Given the description of an element on the screen output the (x, y) to click on. 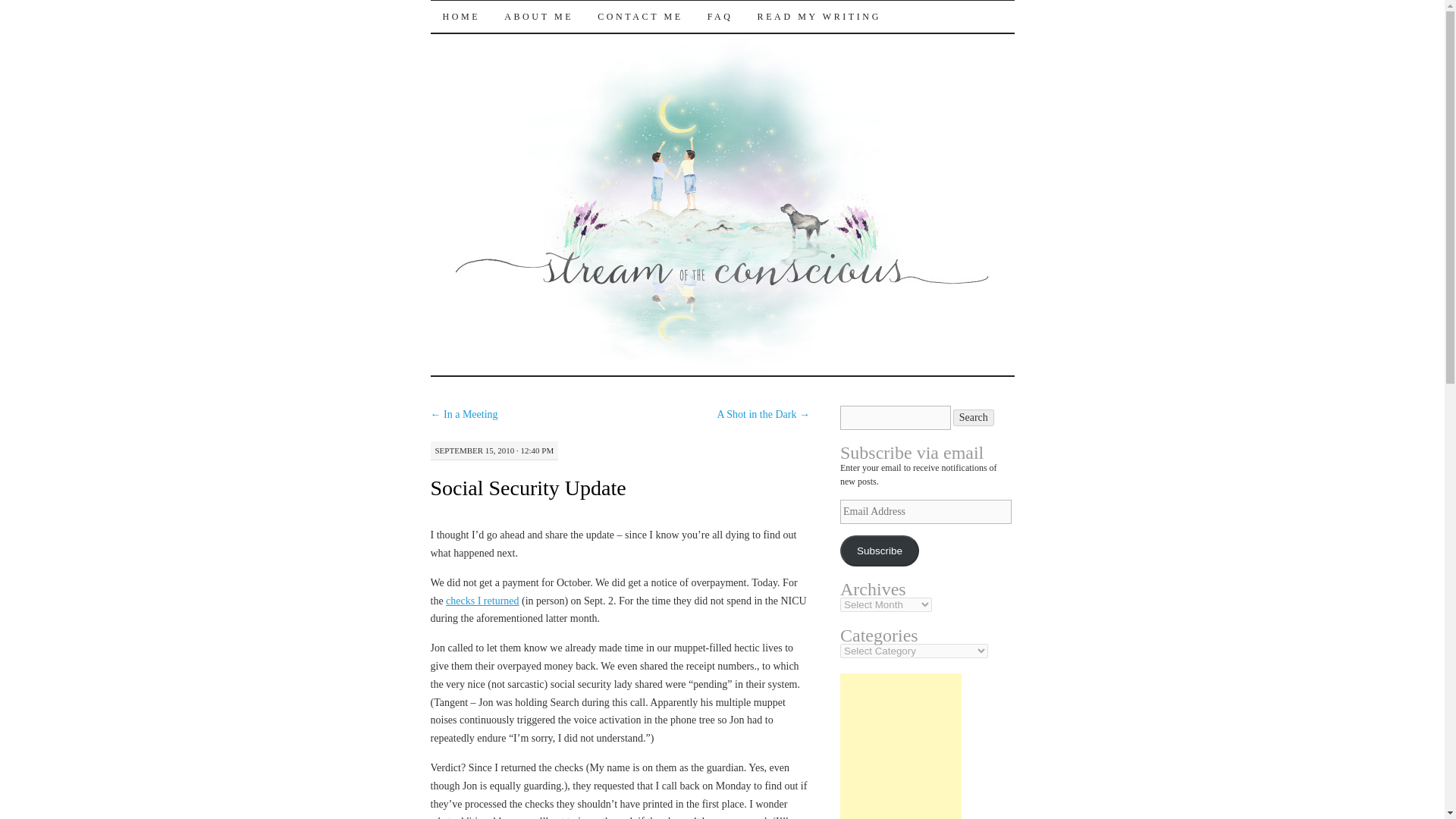
Stream of the Conscious (587, 26)
Subscribe (879, 550)
Search (973, 417)
HOME (461, 16)
CONTACT ME (640, 16)
Search (973, 417)
Stream of the Conscious (587, 26)
ABOUT ME (538, 16)
FAQ (720, 16)
Social Security Update (528, 487)
